Given the description of an element on the screen output the (x, y) to click on. 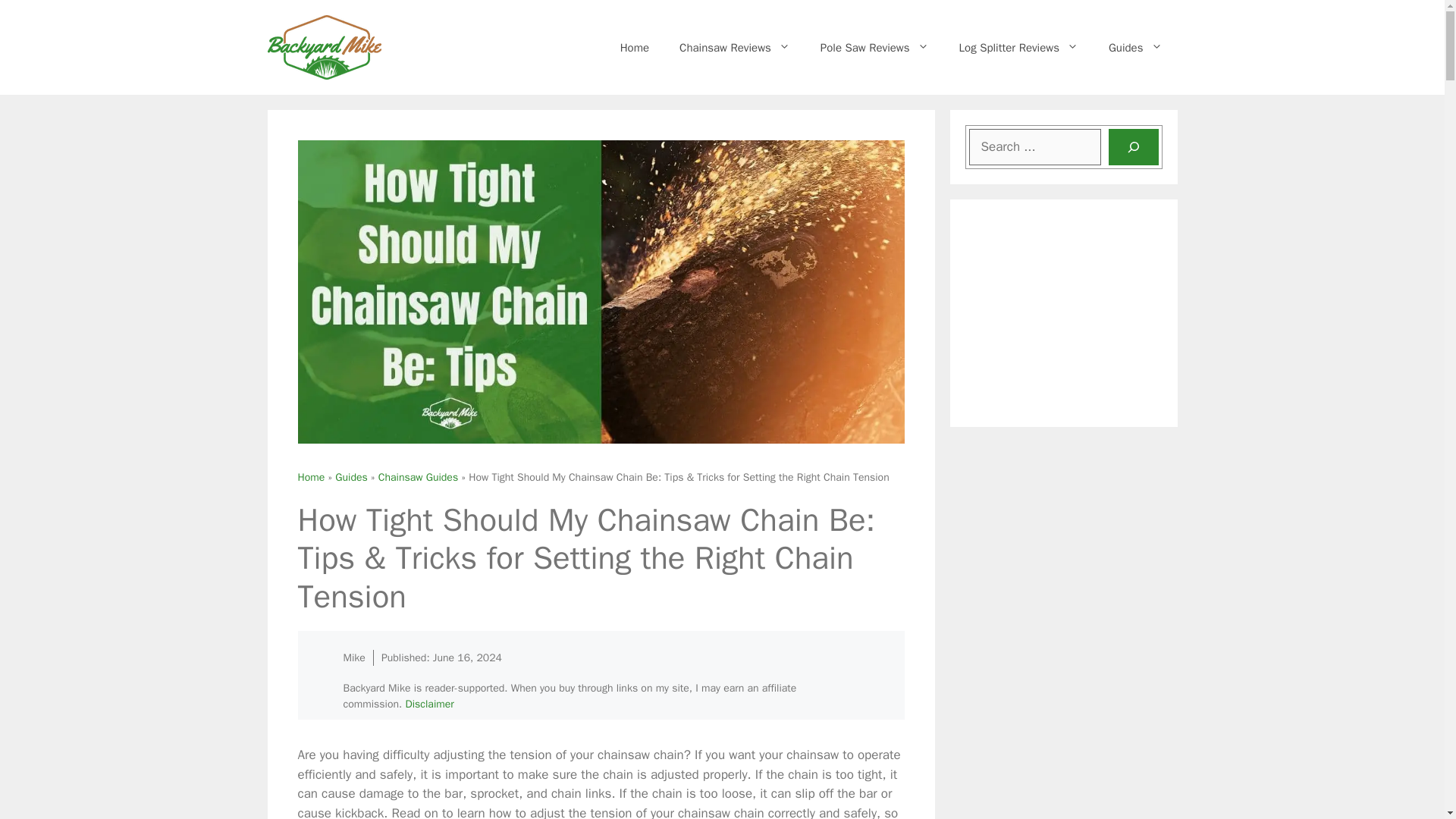
Pole Saw Reviews (874, 46)
Backyard Mike (634, 46)
Guides (1135, 46)
Log Splitter Reviews (1018, 46)
Guides (1135, 46)
Pole Saw Reviews (874, 46)
Chainsaw Reviews (734, 46)
Chainsaw Reviews (734, 46)
Log Splitter Reviews (1018, 46)
Home (634, 46)
